Given the description of an element on the screen output the (x, y) to click on. 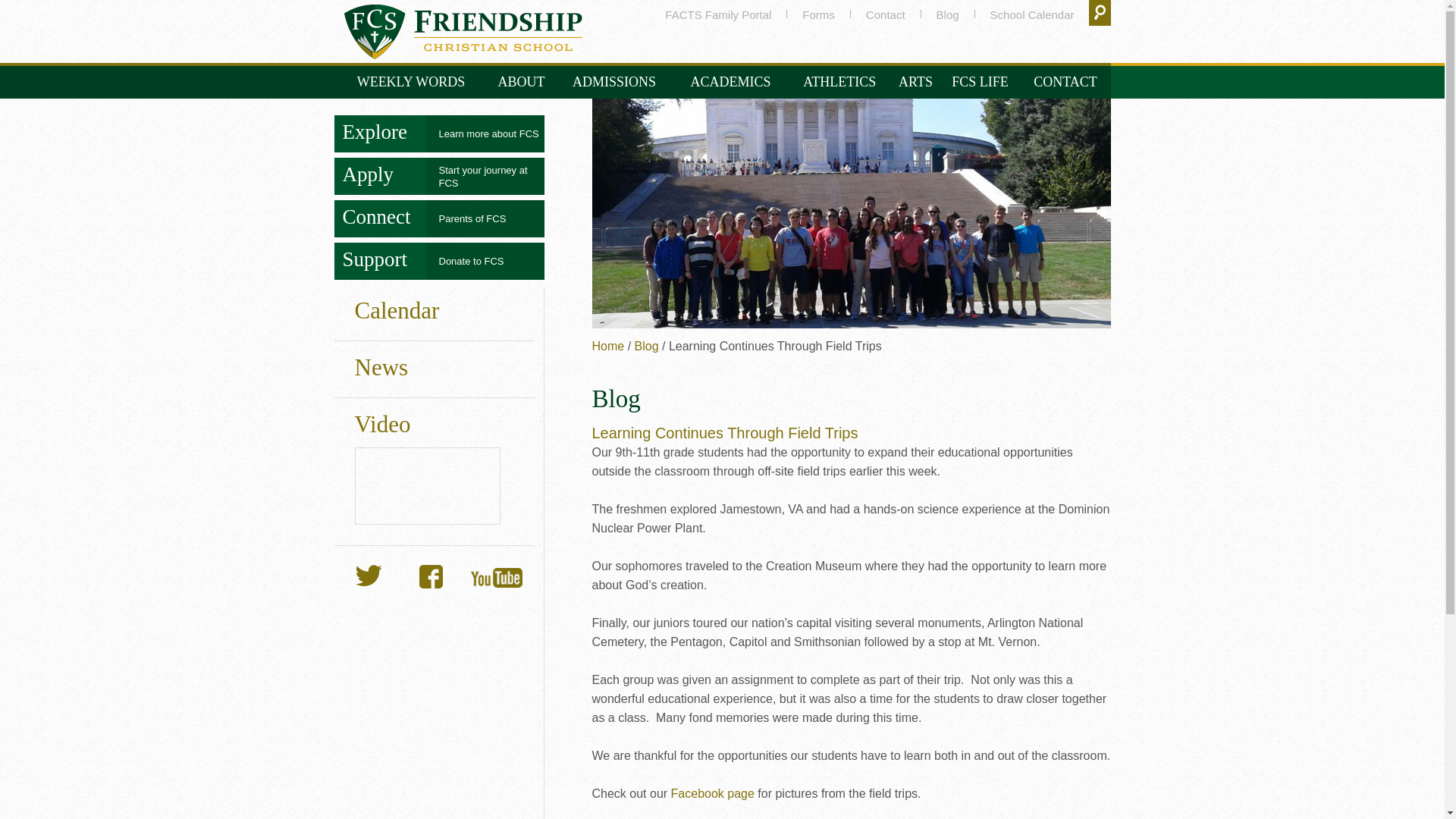
ACADEMICS (729, 82)
ADMISSIONS (614, 82)
ATHLETICS (839, 82)
School Calendar (1032, 14)
WEEKLY WORDS (410, 82)
Contact (885, 14)
FACTS Family Portal (718, 14)
Calendar (1032, 14)
Friendship Christian School (462, 31)
Blog (947, 14)
